Given the description of an element on the screen output the (x, y) to click on. 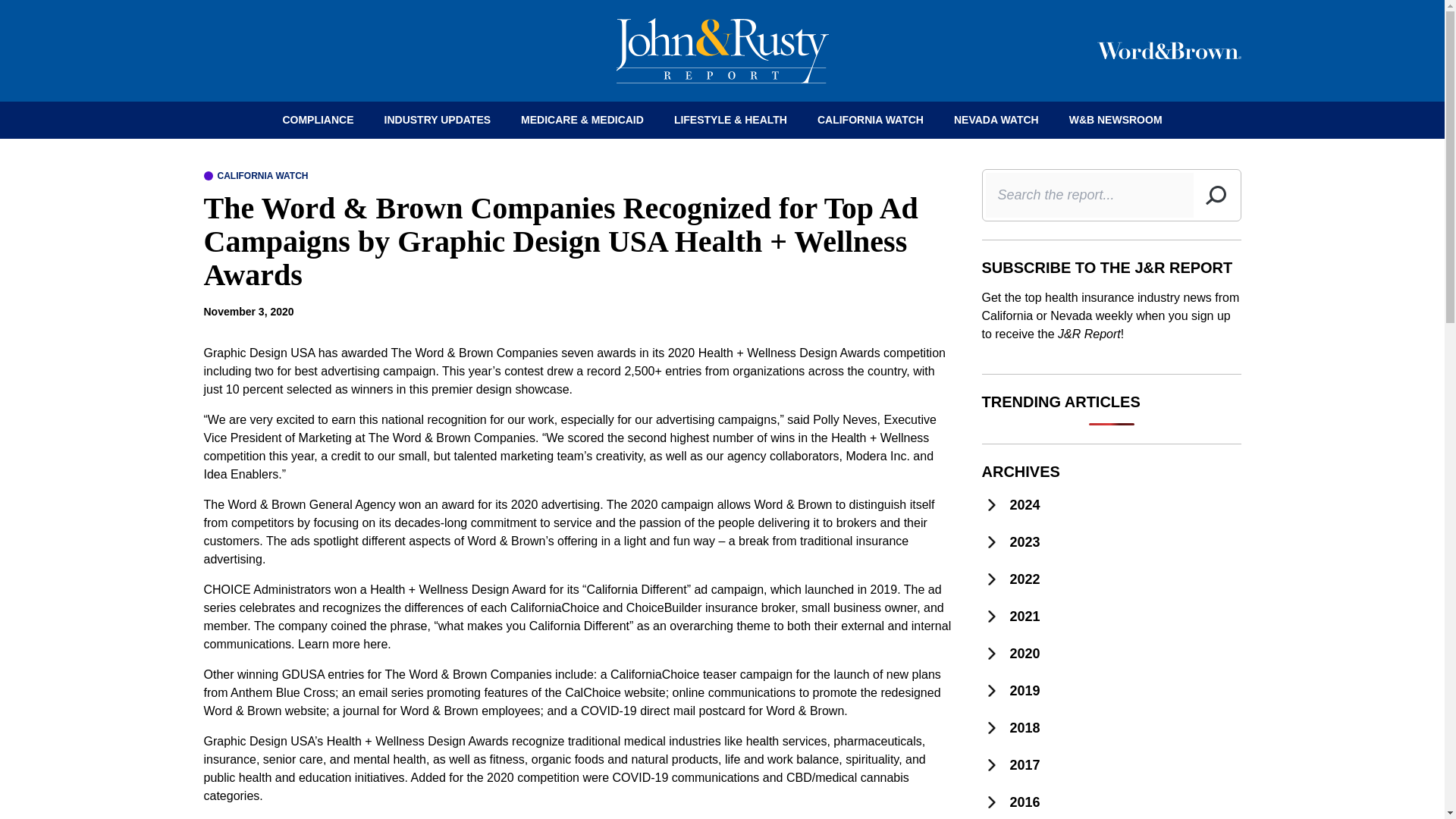
COMPLIANCE (317, 119)
2024 (1110, 505)
NEVADA WATCH (996, 119)
CALIFORNIA WATCH (870, 119)
CALIFORNIA WATCH (255, 175)
INDUSTRY UPDATES (437, 119)
